Given the description of an element on the screen output the (x, y) to click on. 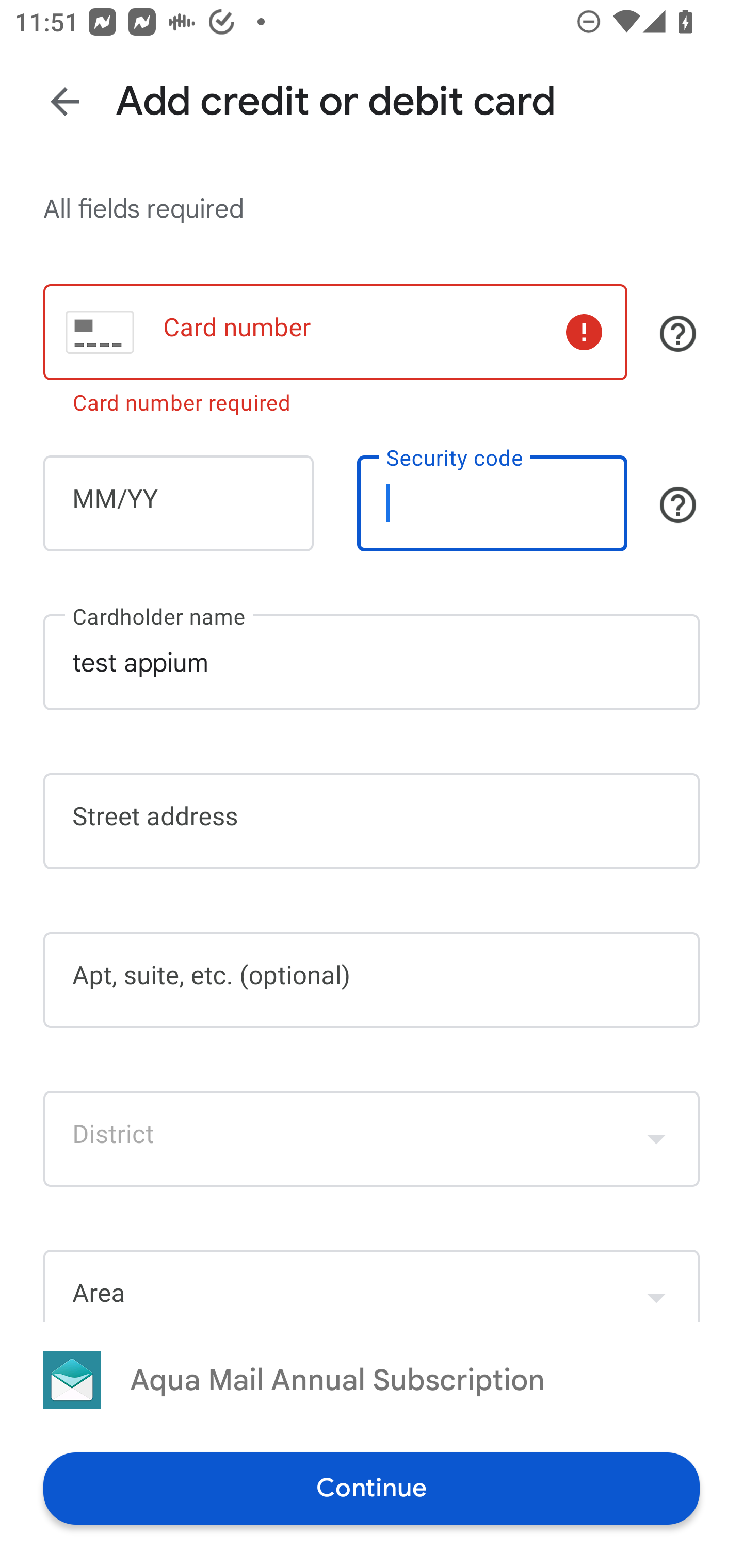
Back (64, 101)
Card number (335, 331)
Button, shows cards that are accepted for payment (677, 333)
Expiration date, 2 digit month, 2 digit year (178, 502)
Security code (492, 502)
Security code help (677, 504)
test appium (371, 662)
Street address (371, 820)
Apt, suite, etc. (optional) (371, 979)
District (371, 1138)
Show dropdown menu (655, 1139)
Area (371, 1285)
Show dropdown menu (655, 1287)
Continue (371, 1487)
